Given the description of an element on the screen output the (x, y) to click on. 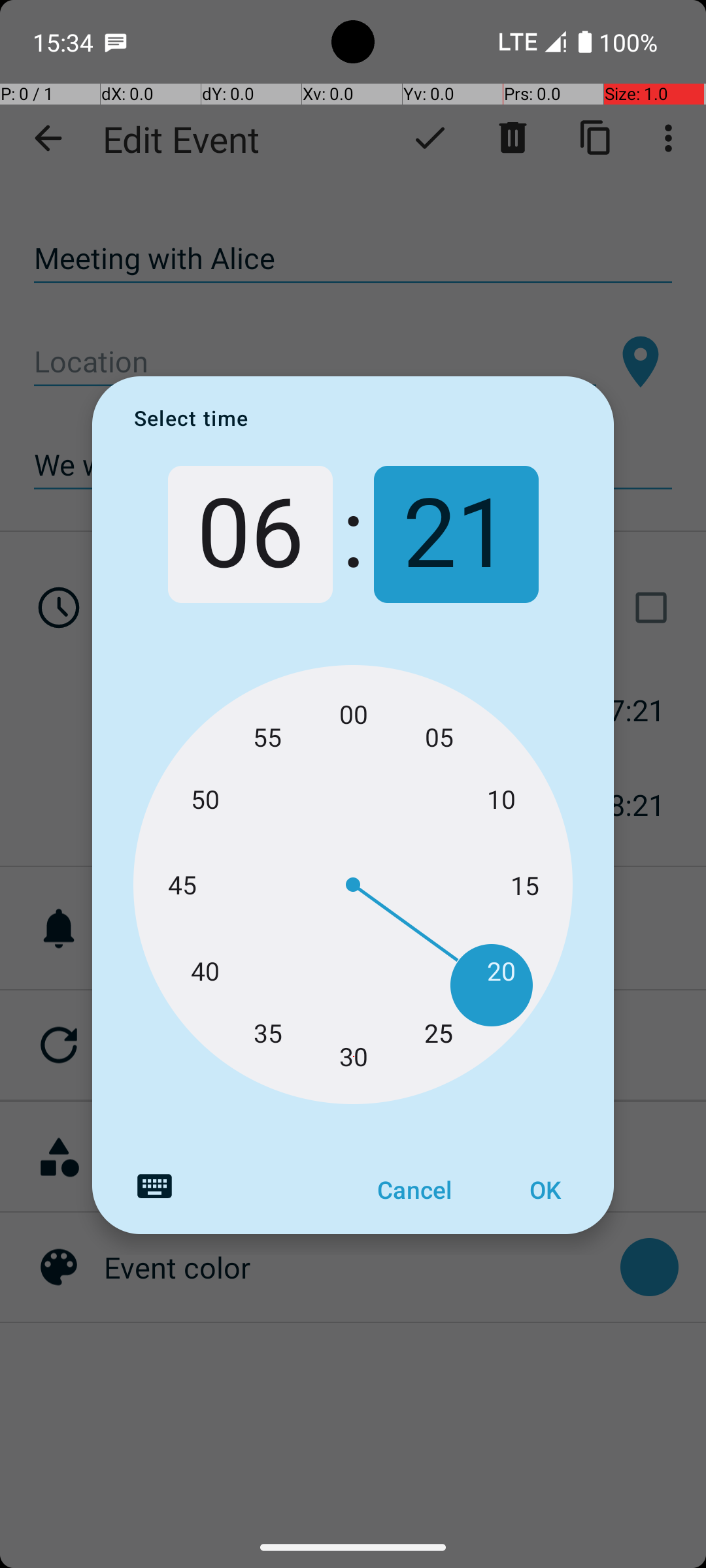
06 Element type: android.view.View (250, 534)
